Given the description of an element on the screen output the (x, y) to click on. 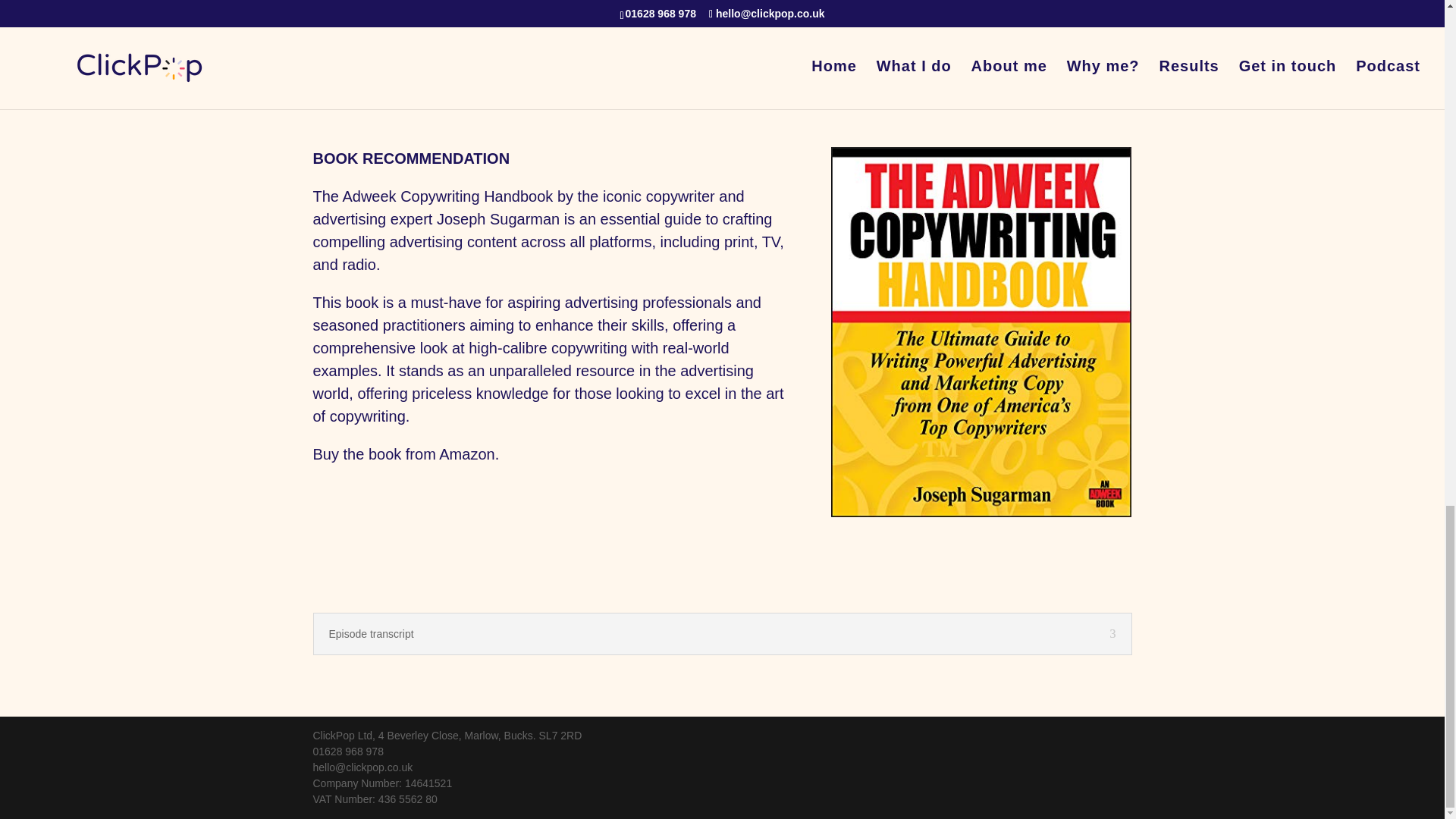
Buy the book from Amazon (404, 453)
